Given the description of an element on the screen output the (x, y) to click on. 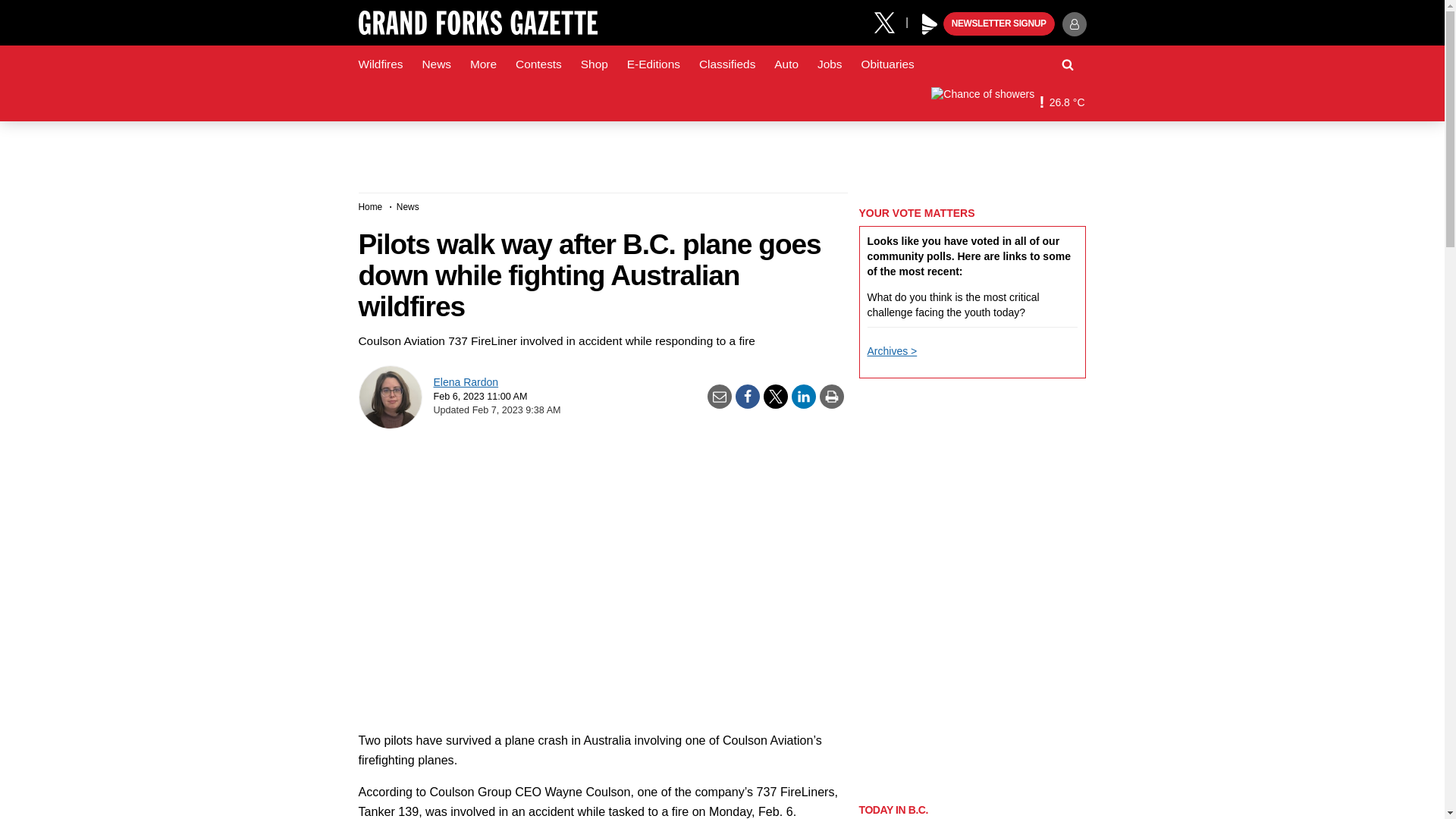
News (435, 64)
Play (929, 24)
Wildfires (380, 64)
NEWSLETTER SIGNUP (998, 24)
X (889, 21)
Black Press Media (929, 24)
